Given the description of an element on the screen output the (x, y) to click on. 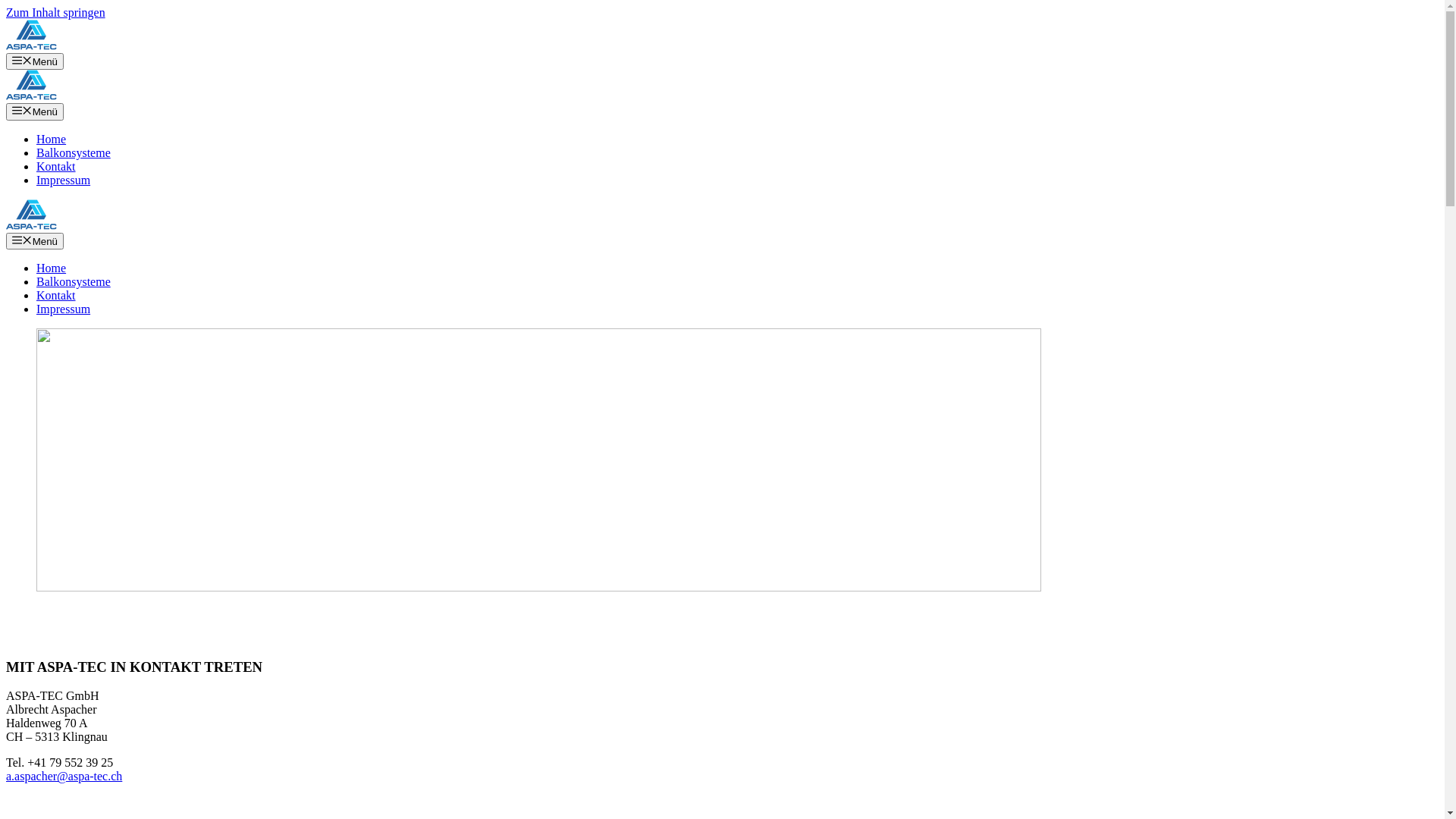
Impressum Element type: text (63, 308)
Home Element type: text (50, 267)
Kontakt Element type: text (55, 166)
Balkonsysteme Element type: text (73, 152)
Home Element type: text (50, 138)
Kontakt Element type: text (55, 294)
a.aspacher@aspa-tec.ch Element type: text (64, 775)
Balkonsysteme Element type: text (73, 281)
Zum Inhalt springen Element type: text (55, 12)
ASPA-TEC Element type: hover (31, 95)
Impressum Element type: text (63, 179)
ASPA-TEC Element type: hover (31, 225)
